Given the description of an element on the screen output the (x, y) to click on. 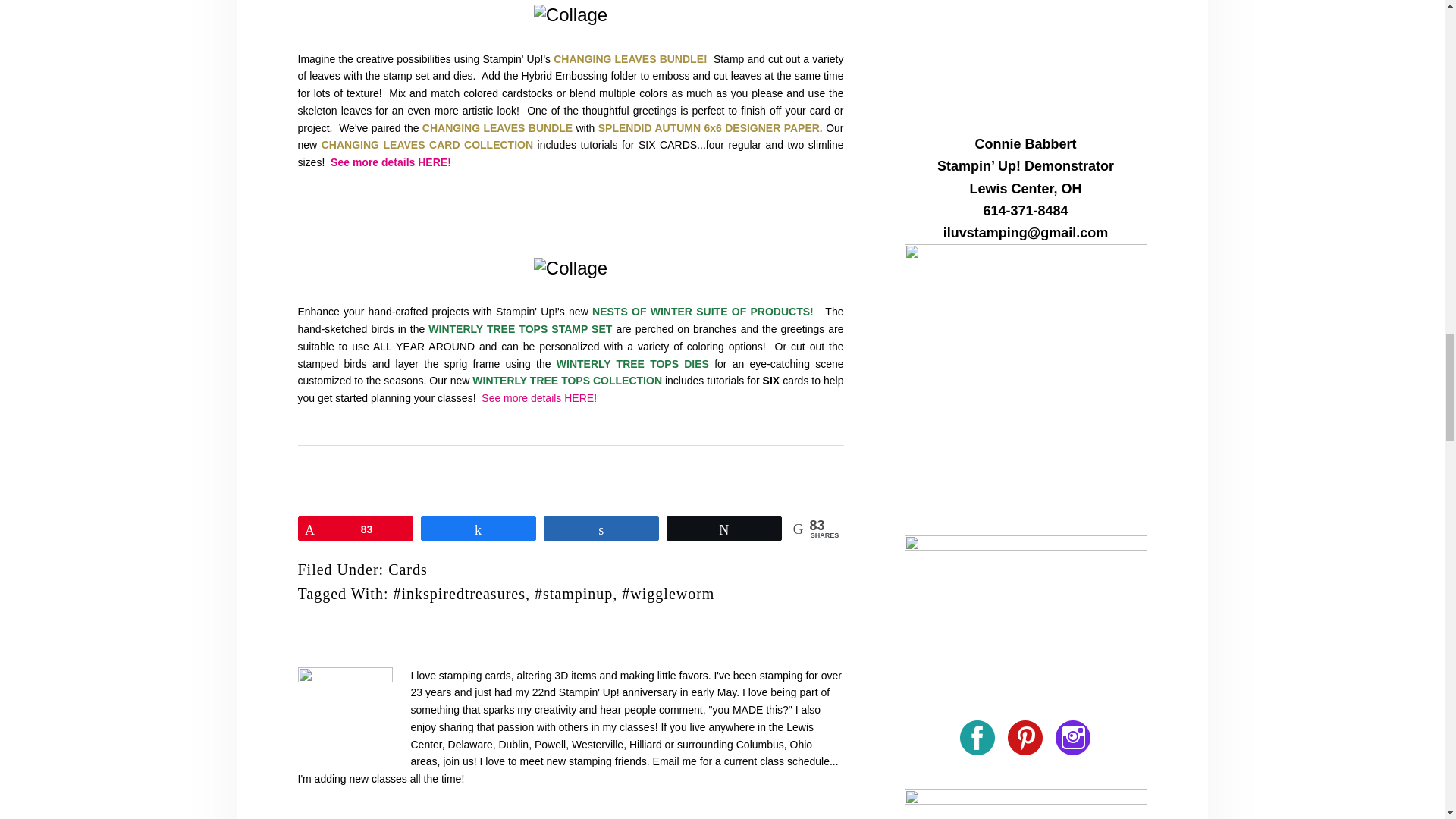
See more details HERE! (390, 162)
See more details HERE! (538, 398)
Cards (408, 569)
83 (355, 527)
